Given the description of an element on the screen output the (x, y) to click on. 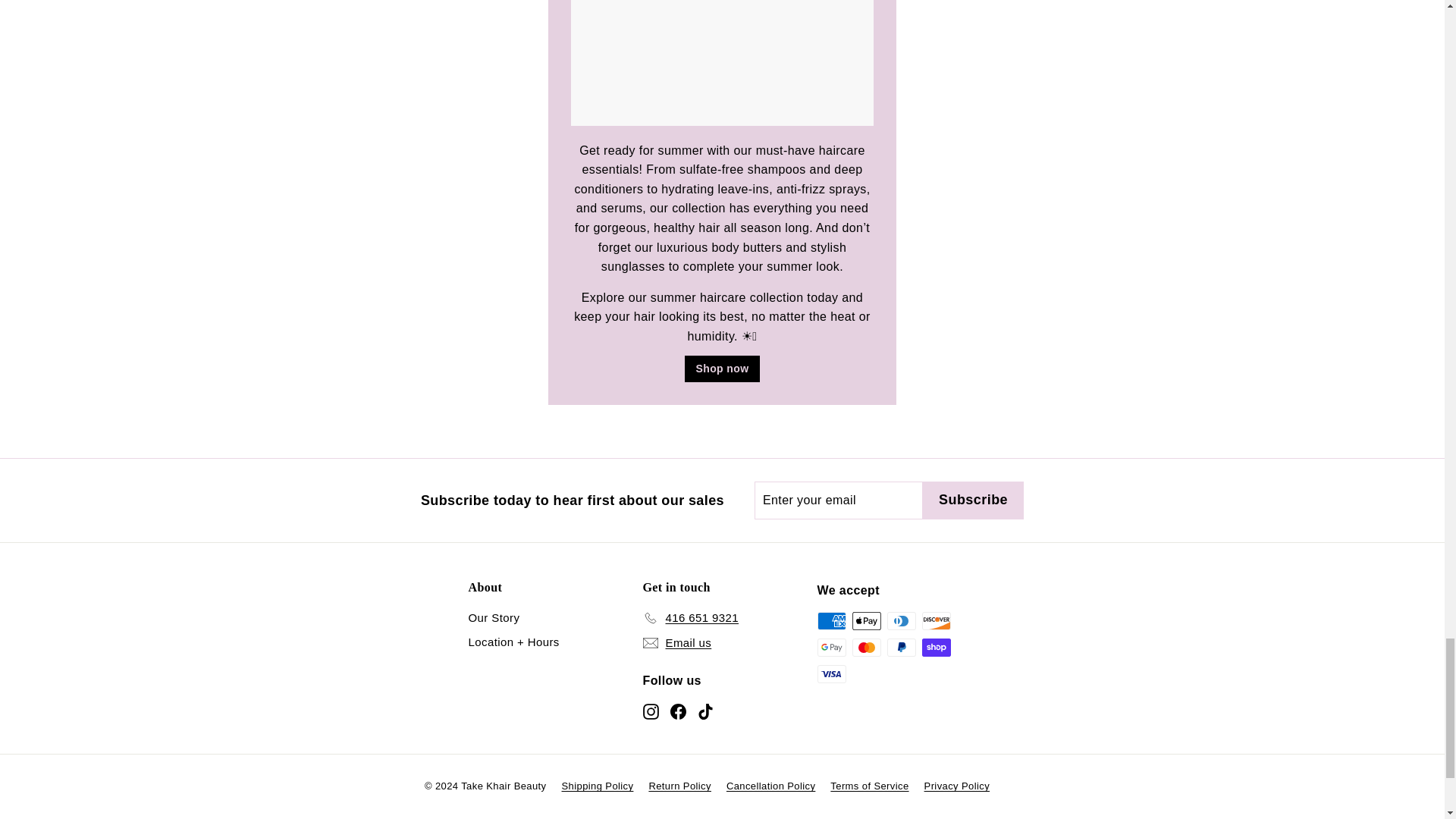
American Express (830, 620)
instagram (651, 711)
